Given the description of an element on the screen output the (x, y) to click on. 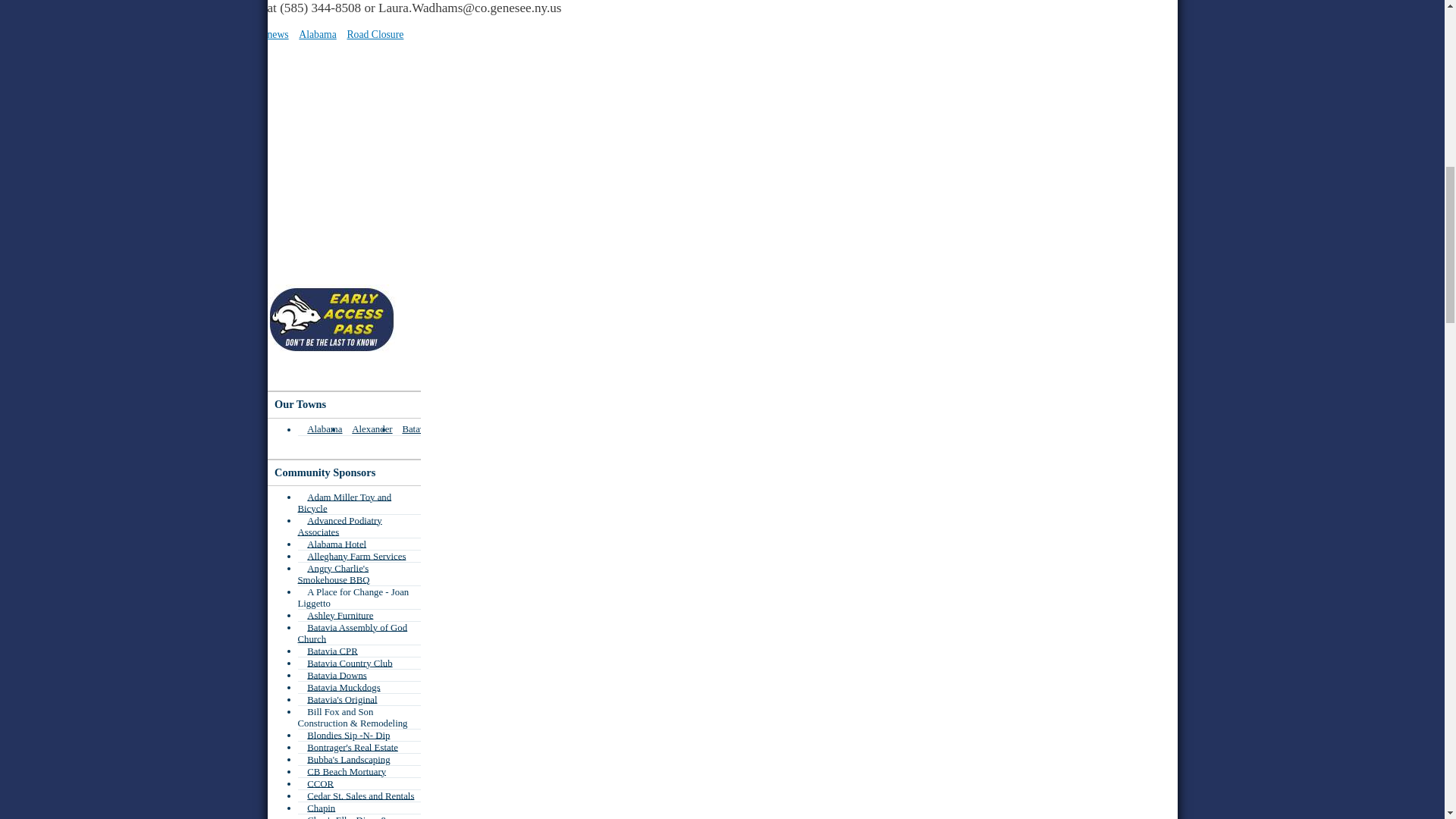
Alabama (319, 429)
Road Closure (374, 34)
Batavia (412, 429)
Alabama (317, 34)
Alexander (367, 429)
news (277, 34)
